Given the description of an element on the screen output the (x, y) to click on. 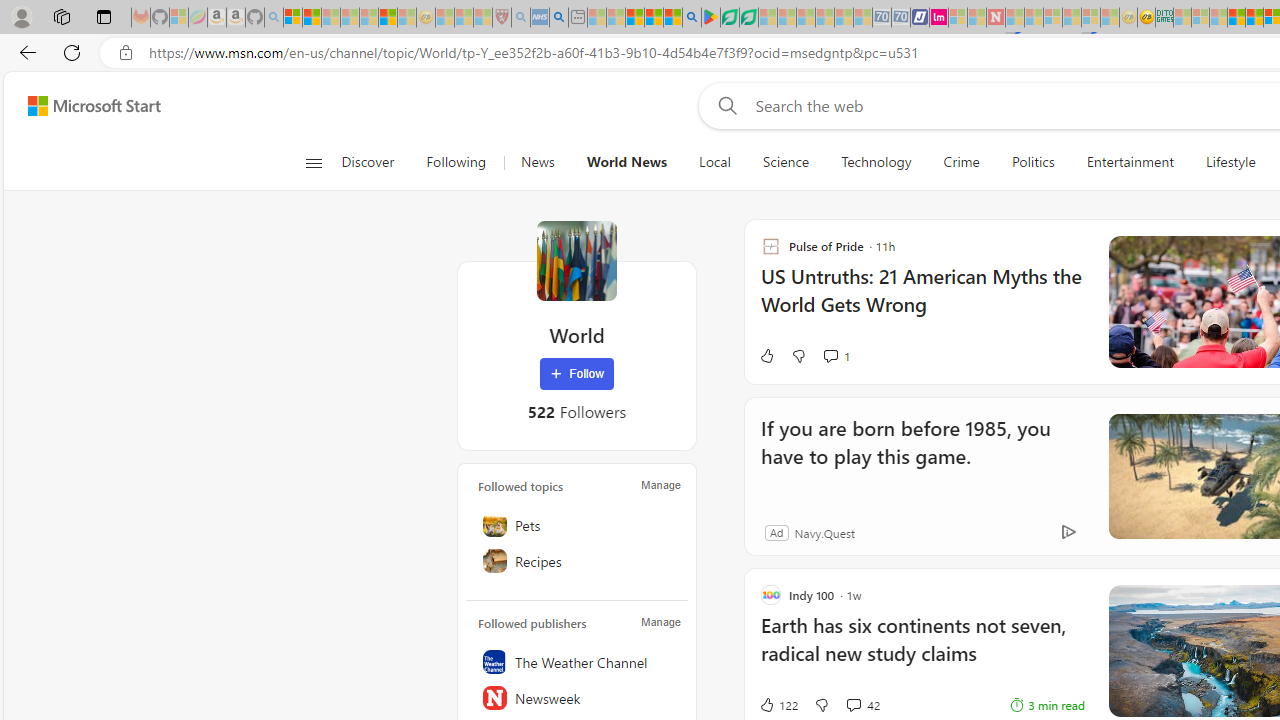
Microsoft Word - consumer-privacy address update 2.2021 (748, 17)
Navy.Quest (824, 532)
